Given the description of an element on the screen output the (x, y) to click on. 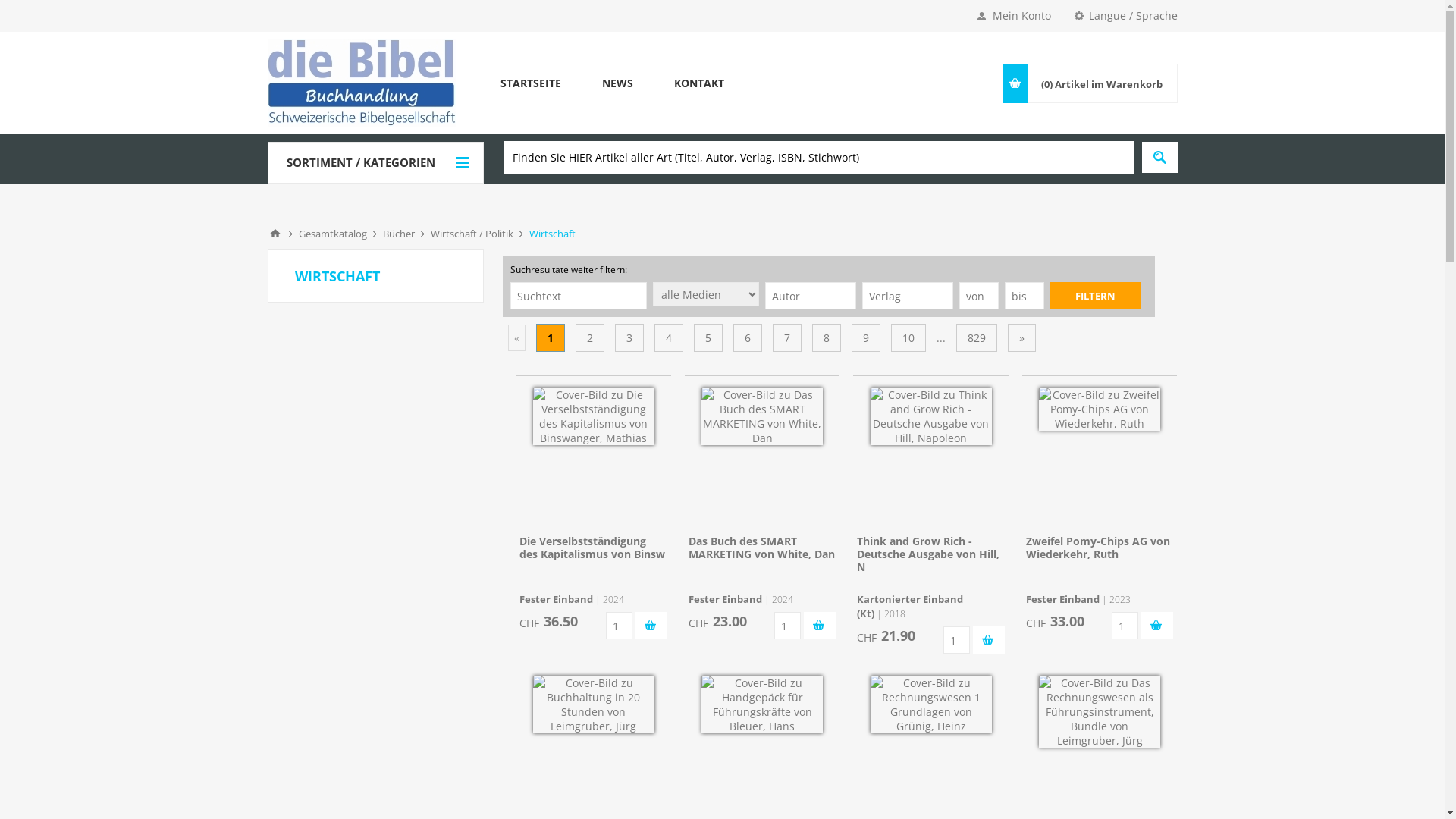
2 Element type: text (588, 337)
Home Element type: text (274, 233)
  Element type: text (1157, 625)
5 Element type: text (707, 337)
Wirtschaft / Politik Element type: text (471, 233)
Das Buch des SMART MARKETING von White, Dan Element type: text (761, 547)
4 Element type: text (667, 337)
10 Element type: text (907, 337)
Suchen Element type: text (1159, 156)
STARTSEITE Element type: text (529, 83)
8 Element type: text (825, 337)
Zweifel Pomy-Chips AG von Wiederkehr, Ruth Element type: text (1098, 547)
3 Element type: text (628, 337)
  Element type: text (819, 625)
9 Element type: text (864, 337)
(0) Artikel im Warenkorb Element type: text (1101, 83)
829 Element type: text (975, 337)
KONTAKT Element type: text (698, 83)
  Element type: text (651, 625)
6 Element type: text (746, 337)
NEWS Element type: text (616, 83)
Think and Grow Rich - Deutsche Ausgabe von Hill, N Element type: text (927, 553)
7 Element type: text (785, 337)
filtern Element type: text (1094, 295)
Gesamtkatalog Element type: text (332, 233)
  Element type: text (988, 639)
